Given the description of an element on the screen output the (x, y) to click on. 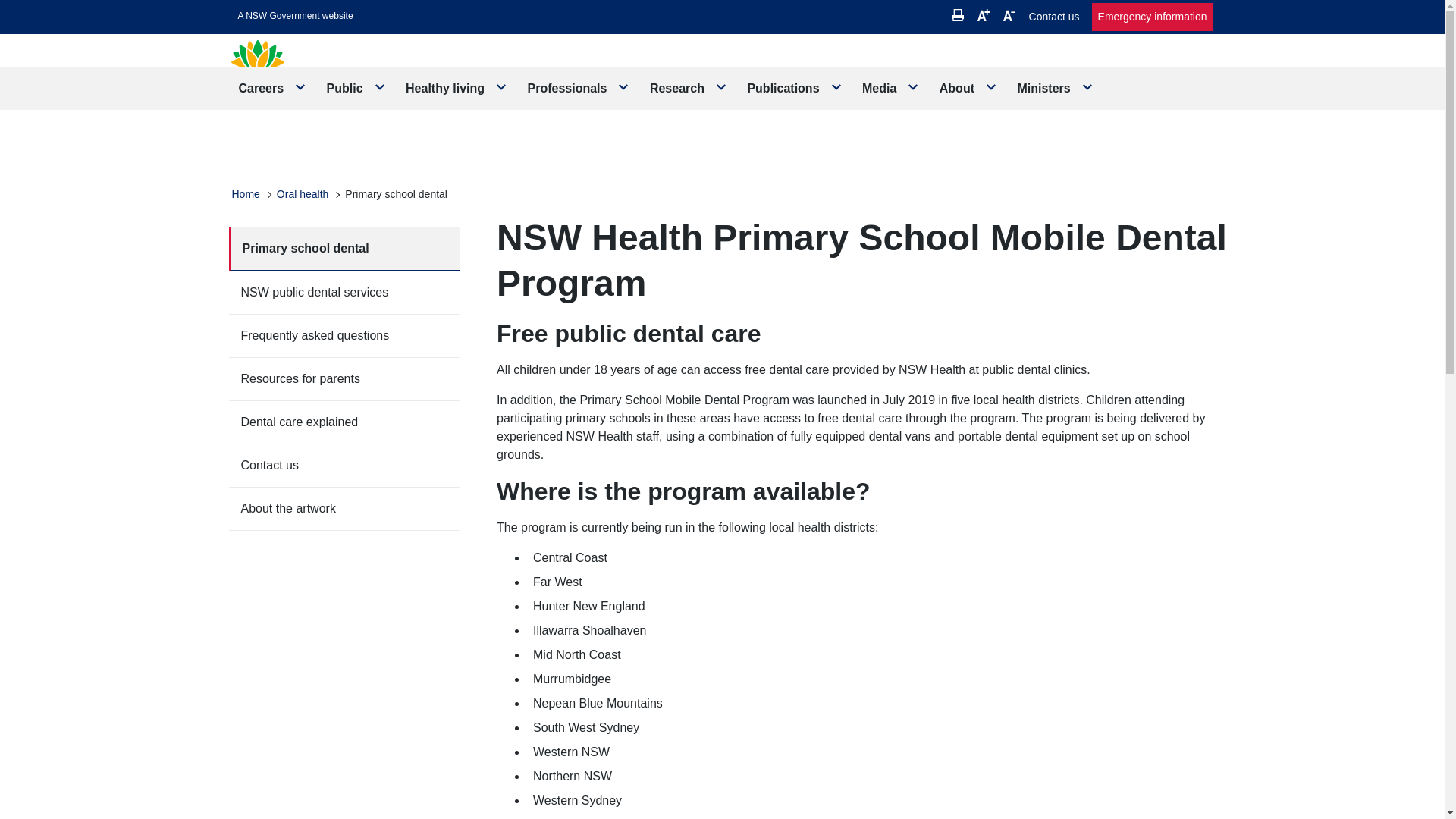
Public (356, 88)
Home (245, 193)
Print Page (957, 15)
Go to homepage (347, 79)
Skip to content (296, 15)
Careers (272, 88)
Decrease Font Size (1008, 15)
Contact us (1054, 17)
Emergency information (1152, 17)
Increase Font Size (983, 15)
